Given the description of an element on the screen output the (x, y) to click on. 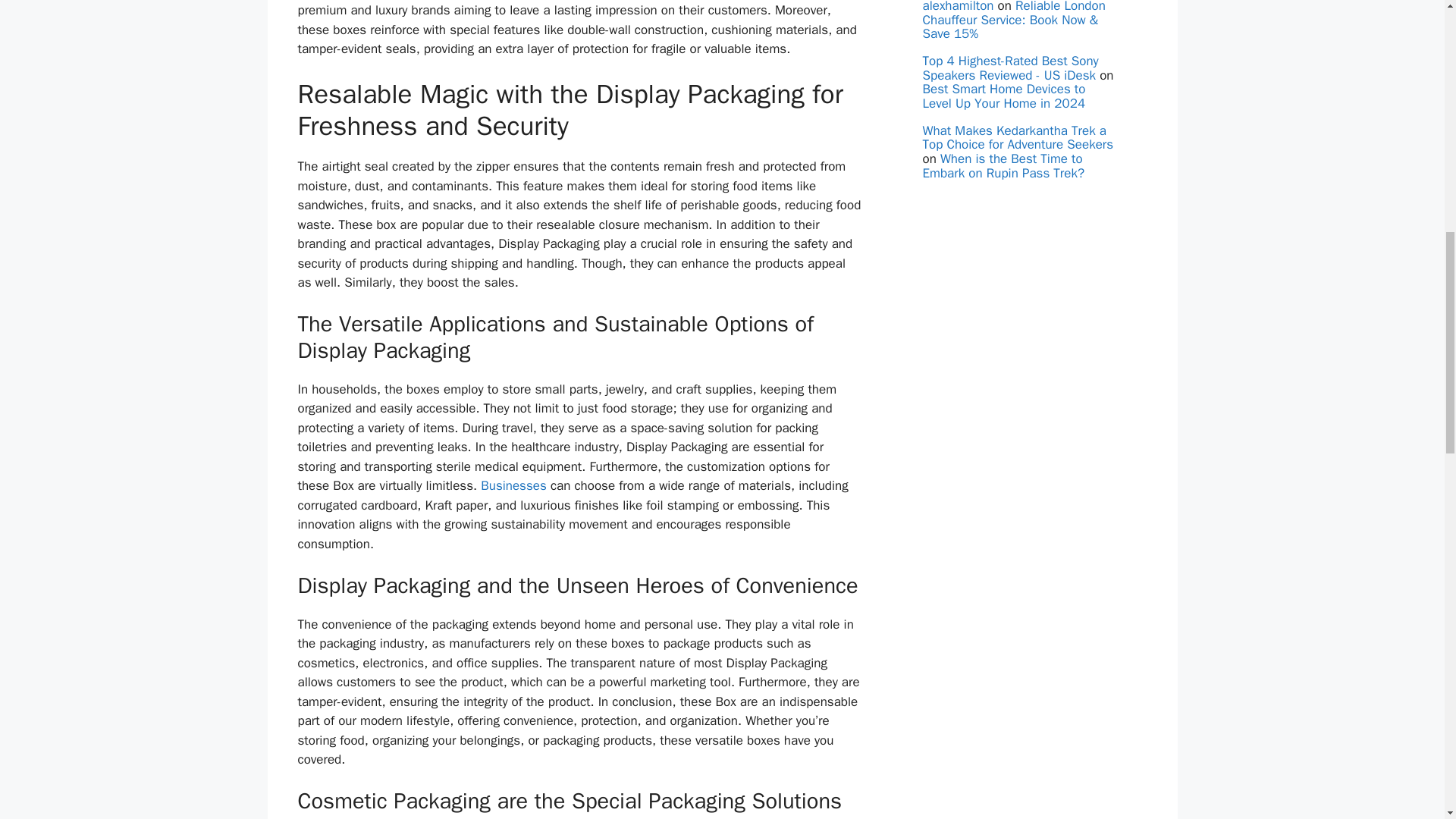
Scroll back to top (1406, 720)
Advertisement (1018, 416)
Businesses (513, 485)
